Given the description of an element on the screen output the (x, y) to click on. 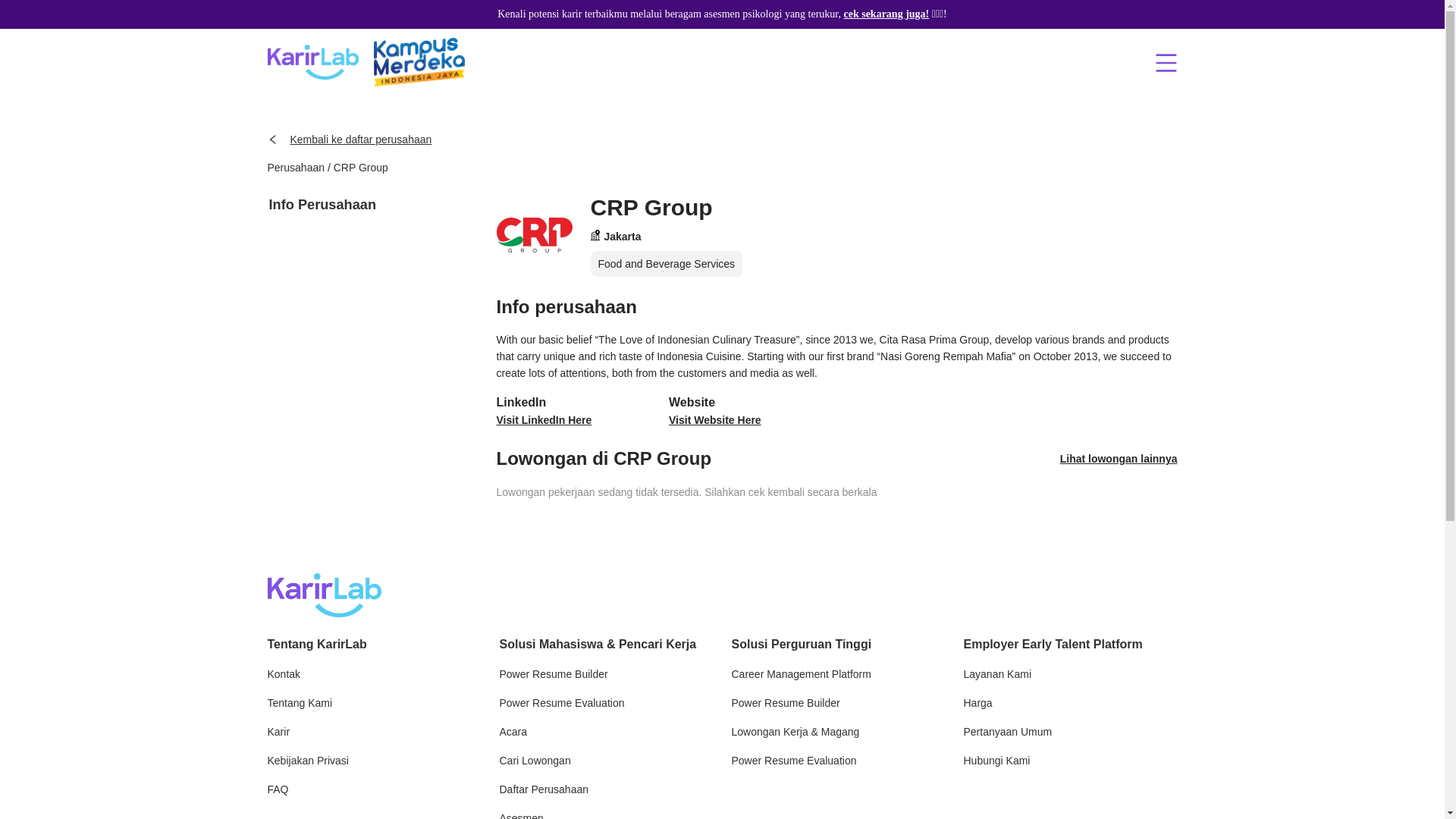
Pertanyaan Umum (1069, 731)
Cari Lowongan (606, 760)
Power Resume Evaluation (837, 760)
Layanan Kami (1069, 673)
Asesmen (606, 814)
Tentang Kami (373, 702)
Power Resume Builder (606, 673)
FAQ (373, 789)
Perusahaan (295, 167)
CRP Group (360, 167)
